Given the description of an element on the screen output the (x, y) to click on. 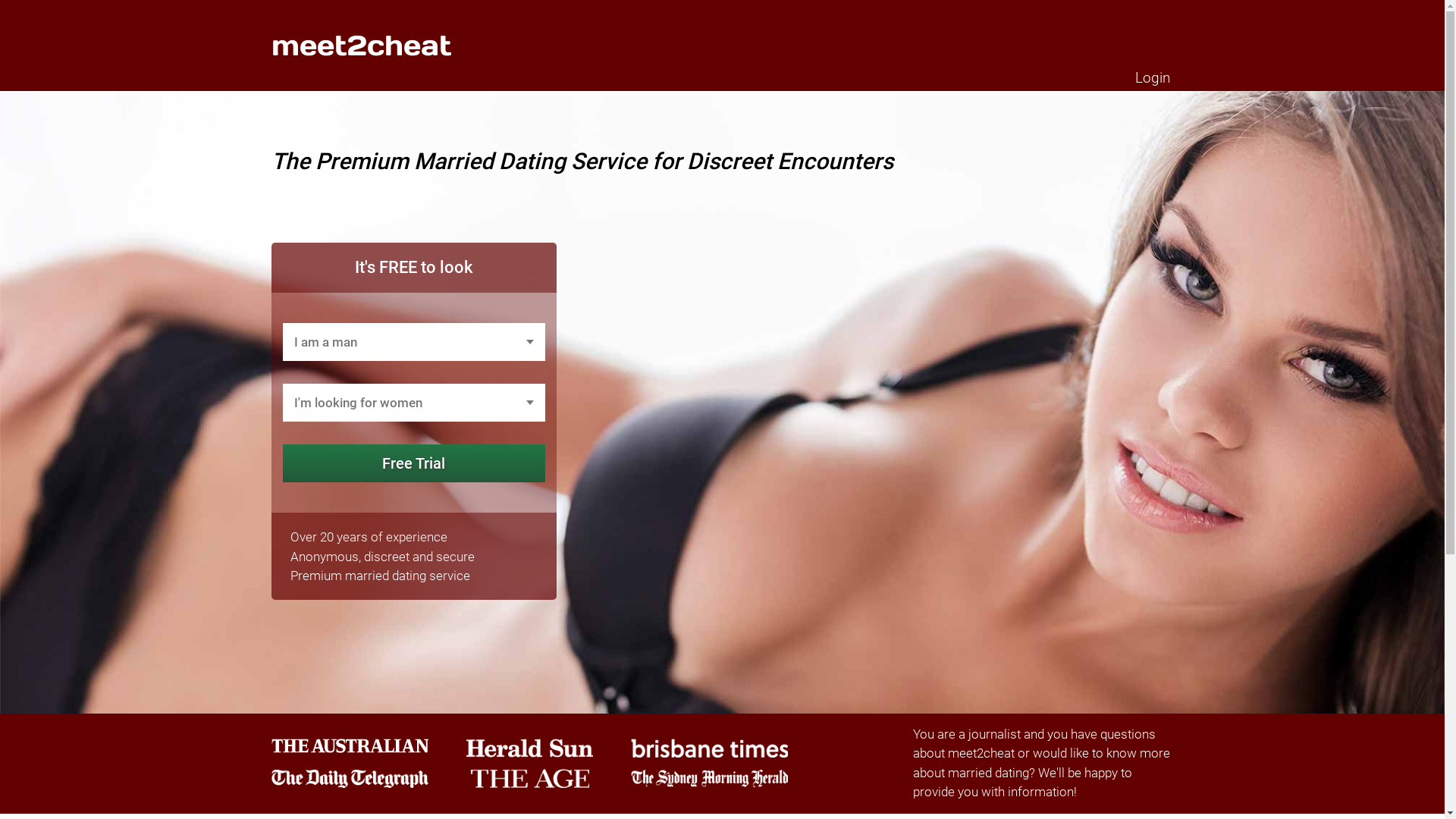
Free Trial Element type: text (413, 463)
Login Element type: text (1151, 77)
meet2cheat Element type: text (361, 44)
